Given the description of an element on the screen output the (x, y) to click on. 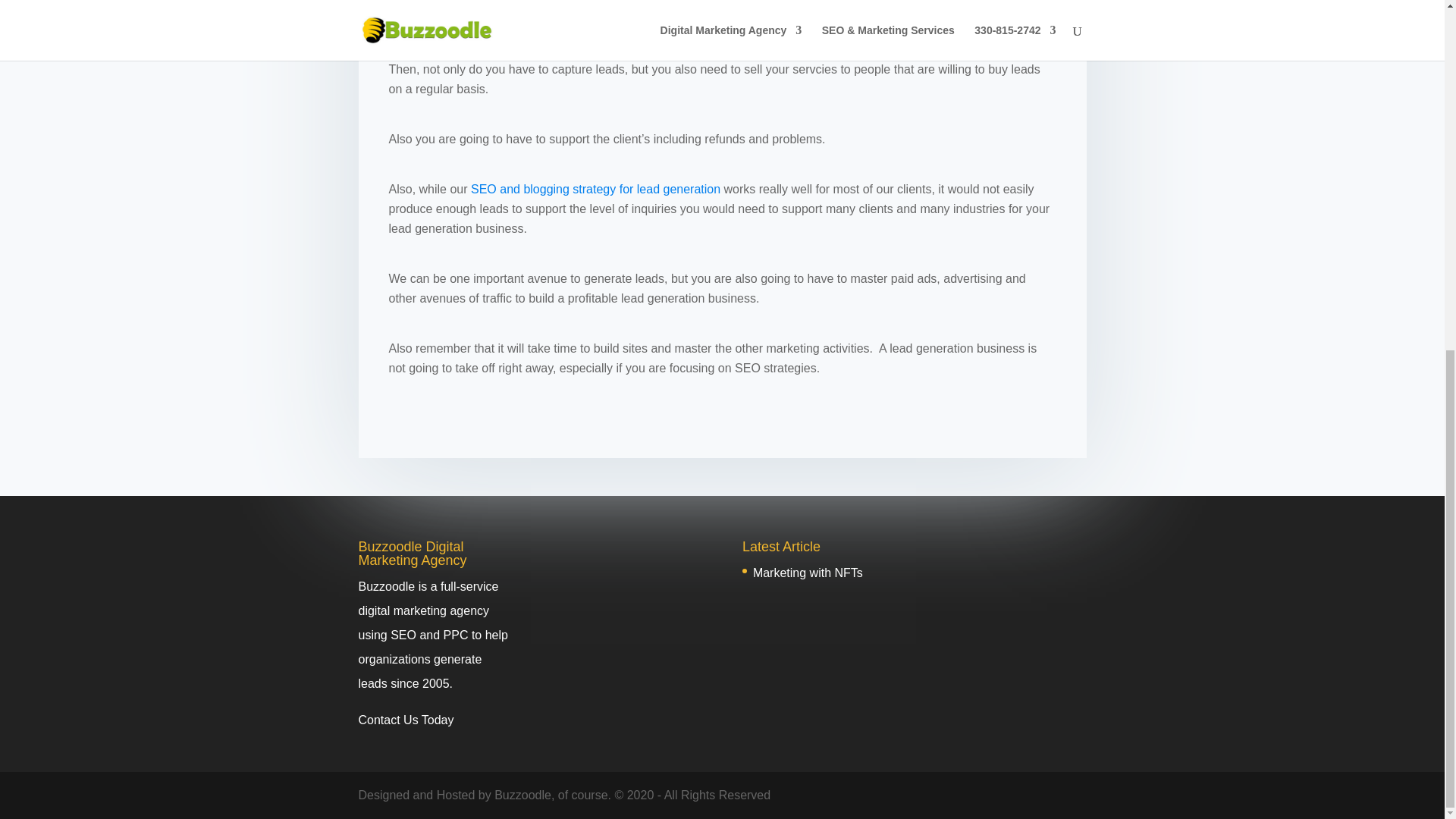
Contact Us Today (405, 719)
Marketing with NFTs (807, 572)
SEO and blogging strategy for lead generation (595, 188)
